Given the description of an element on the screen output the (x, y) to click on. 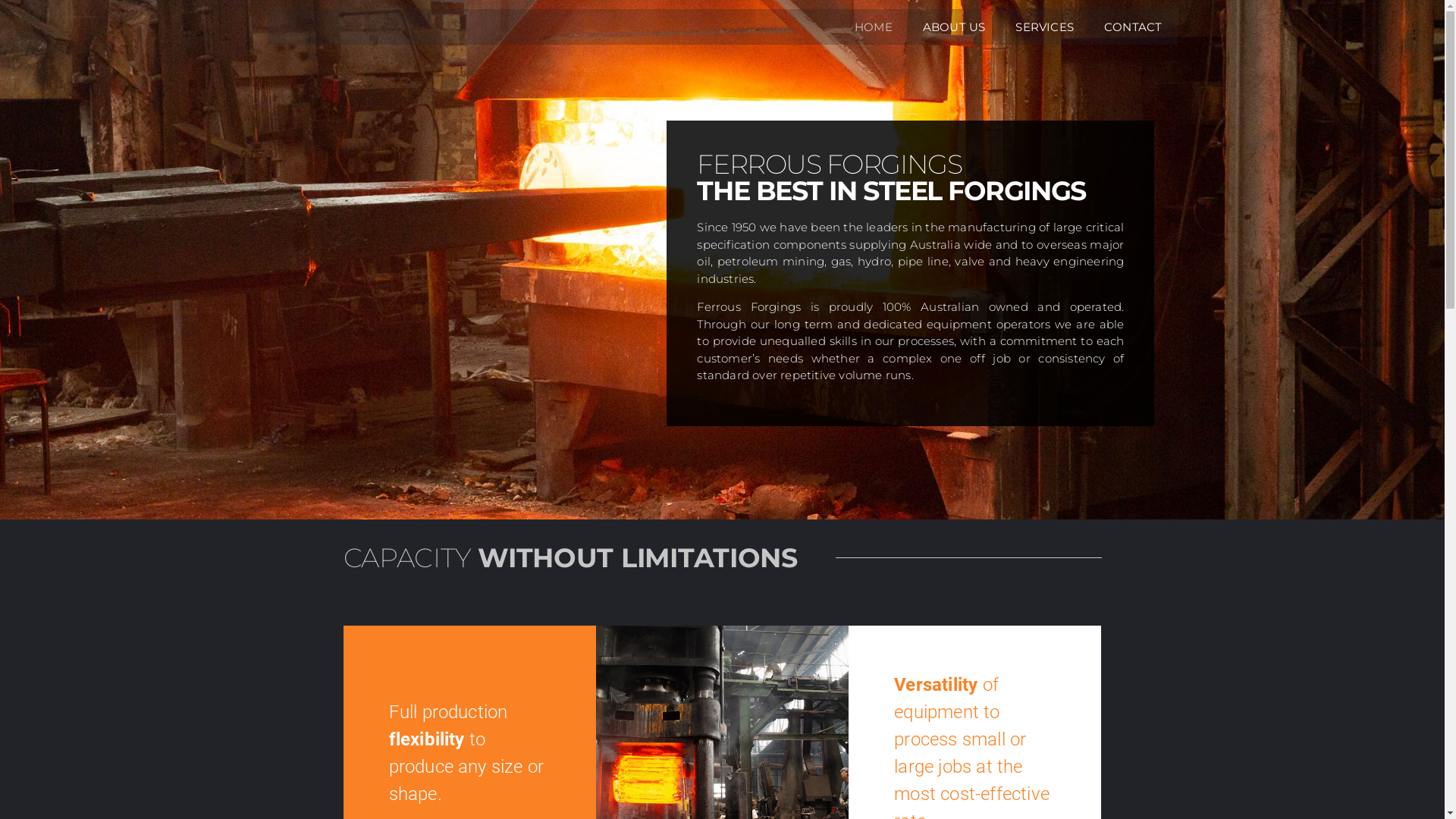
ABOUT US Element type: text (954, 26)
CONTACT Element type: text (1132, 26)
SERVICES Element type: text (1044, 26)
HOME Element type: text (873, 26)
